Given the description of an element on the screen output the (x, y) to click on. 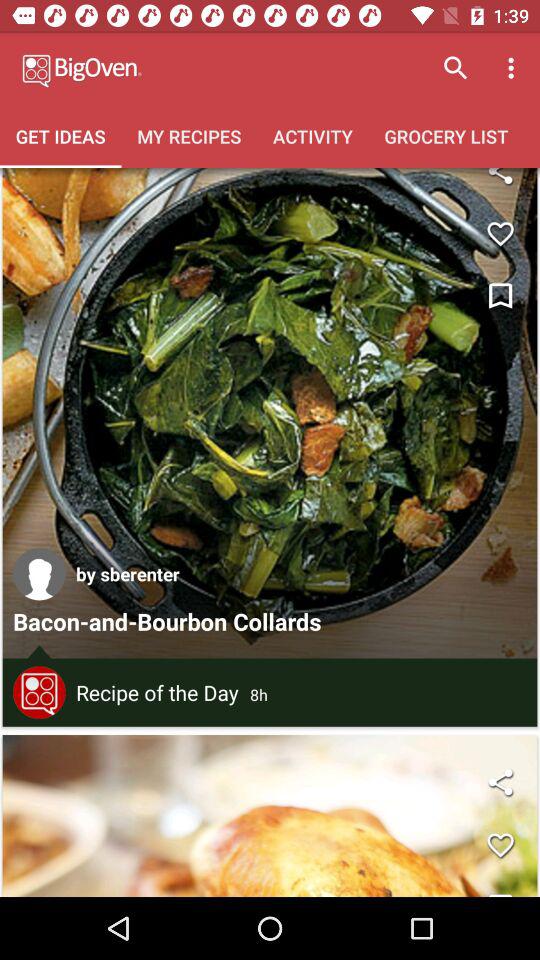
turn off the item next to by sberenter (39, 573)
